Given the description of an element on the screen output the (x, y) to click on. 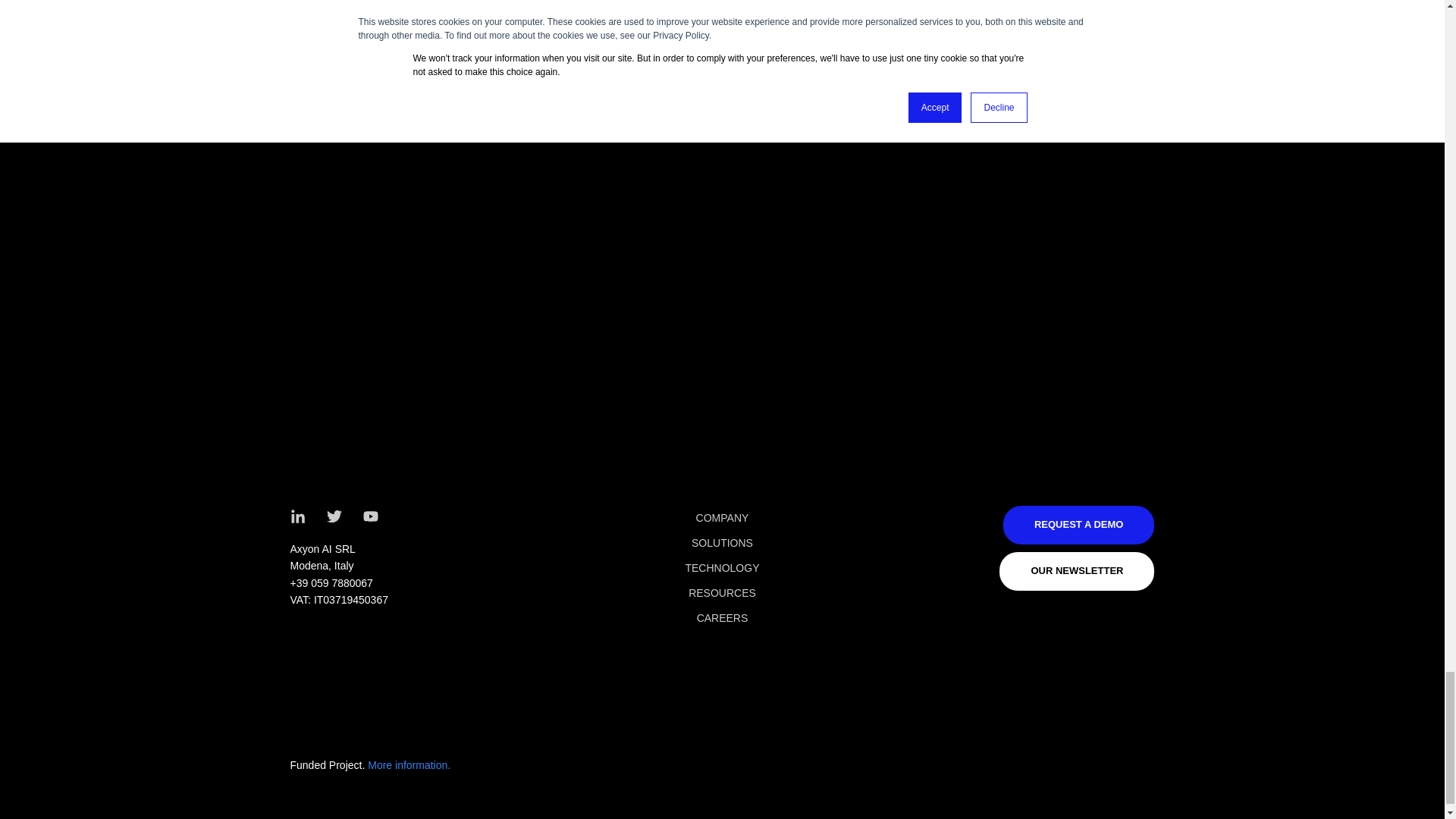
Button REQUEST A DEMO (1078, 525)
Button OUR NEWSLETTER (1076, 571)
